Given the description of an element on the screen output the (x, y) to click on. 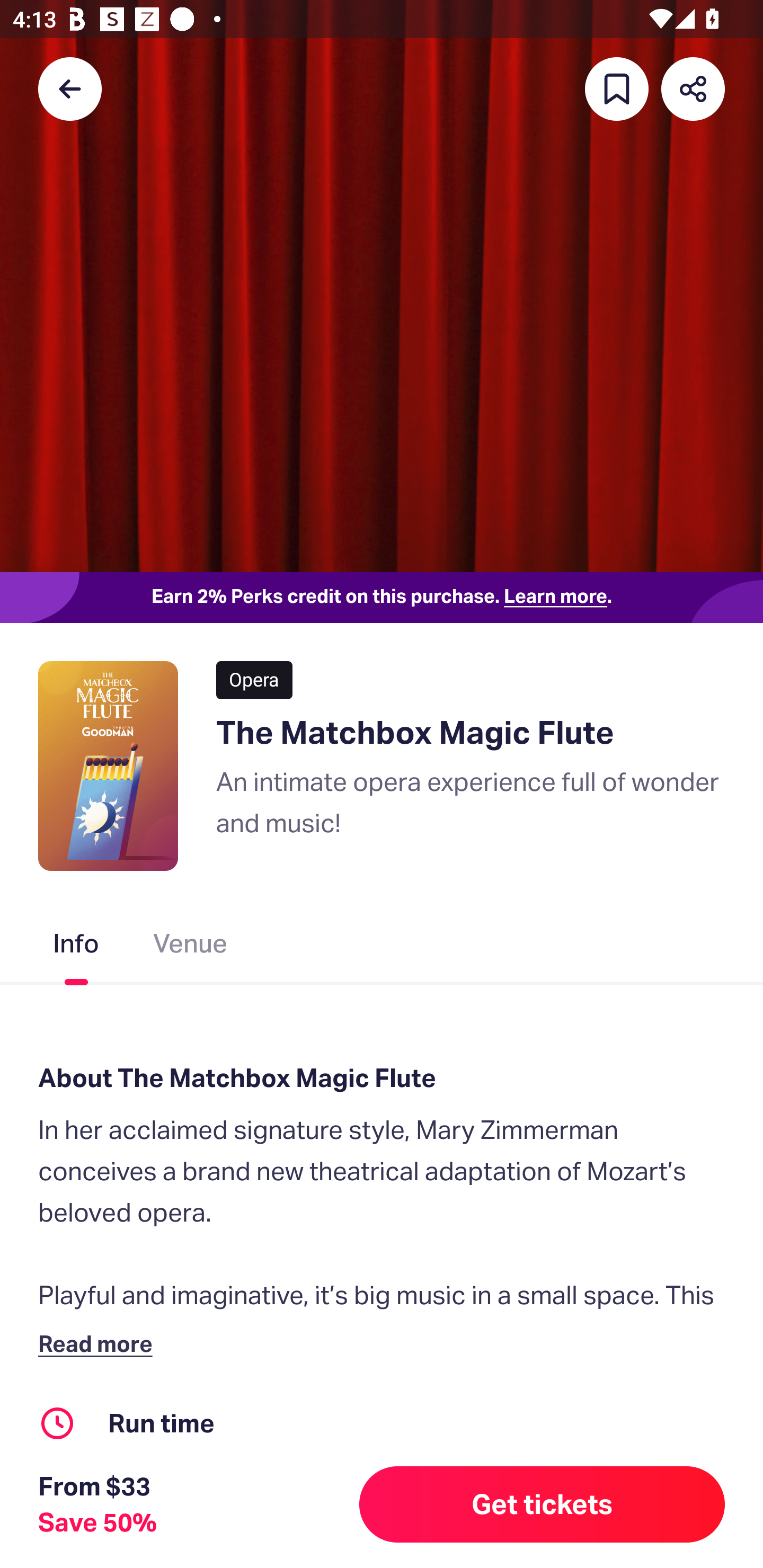
Earn 2% Perks credit on this purchase. Learn more. (381, 597)
Venue (190, 946)
About The Matchbox Magic Flute (381, 1077)
Read more (99, 1342)
Get tickets (541, 1504)
